Given the description of an element on the screen output the (x, y) to click on. 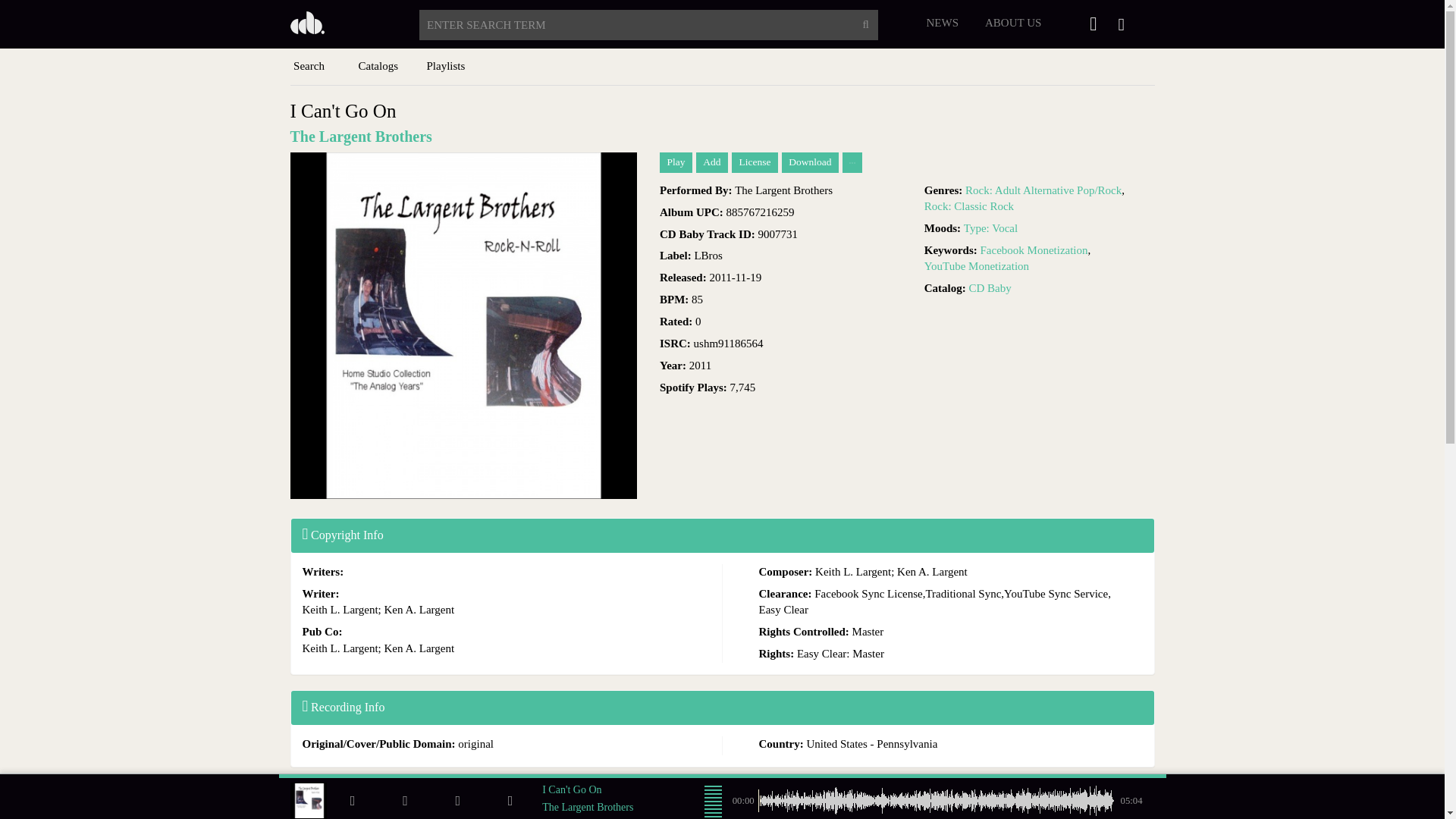
Playlists (445, 66)
Download (809, 162)
Search (308, 66)
About Us (1013, 22)
Add (711, 162)
Play (676, 162)
YouTube Monetization (976, 265)
ABOUT US (1013, 22)
License (754, 162)
Search (308, 66)
Playlists (445, 66)
License 'I Can't Go On' (754, 162)
CD Baby (331, 22)
Catalogs (377, 66)
Play 'I Can't Go On' (676, 162)
